Given the description of an element on the screen output the (x, y) to click on. 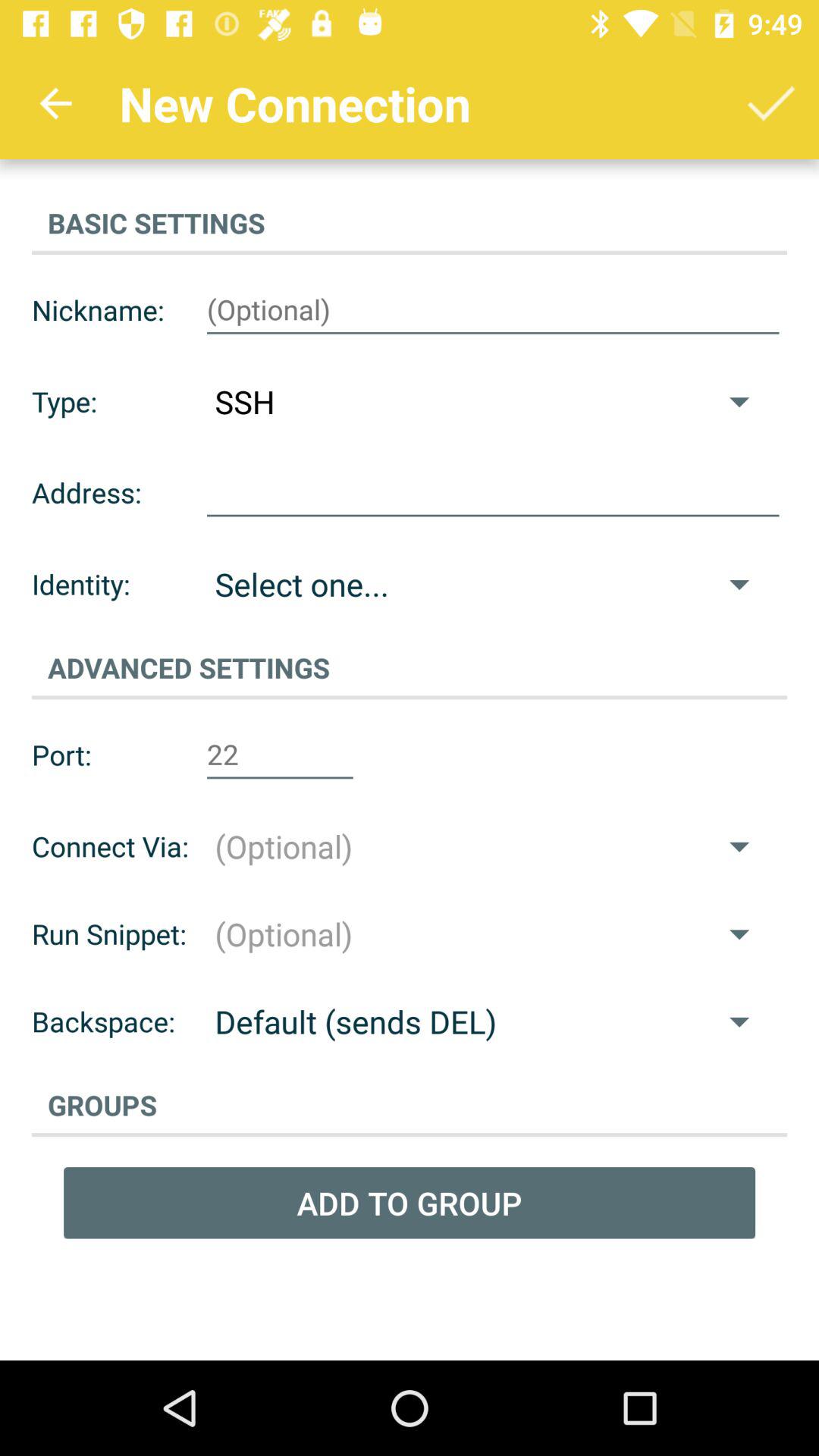
type in box (493, 309)
